Given the description of an element on the screen output the (x, y) to click on. 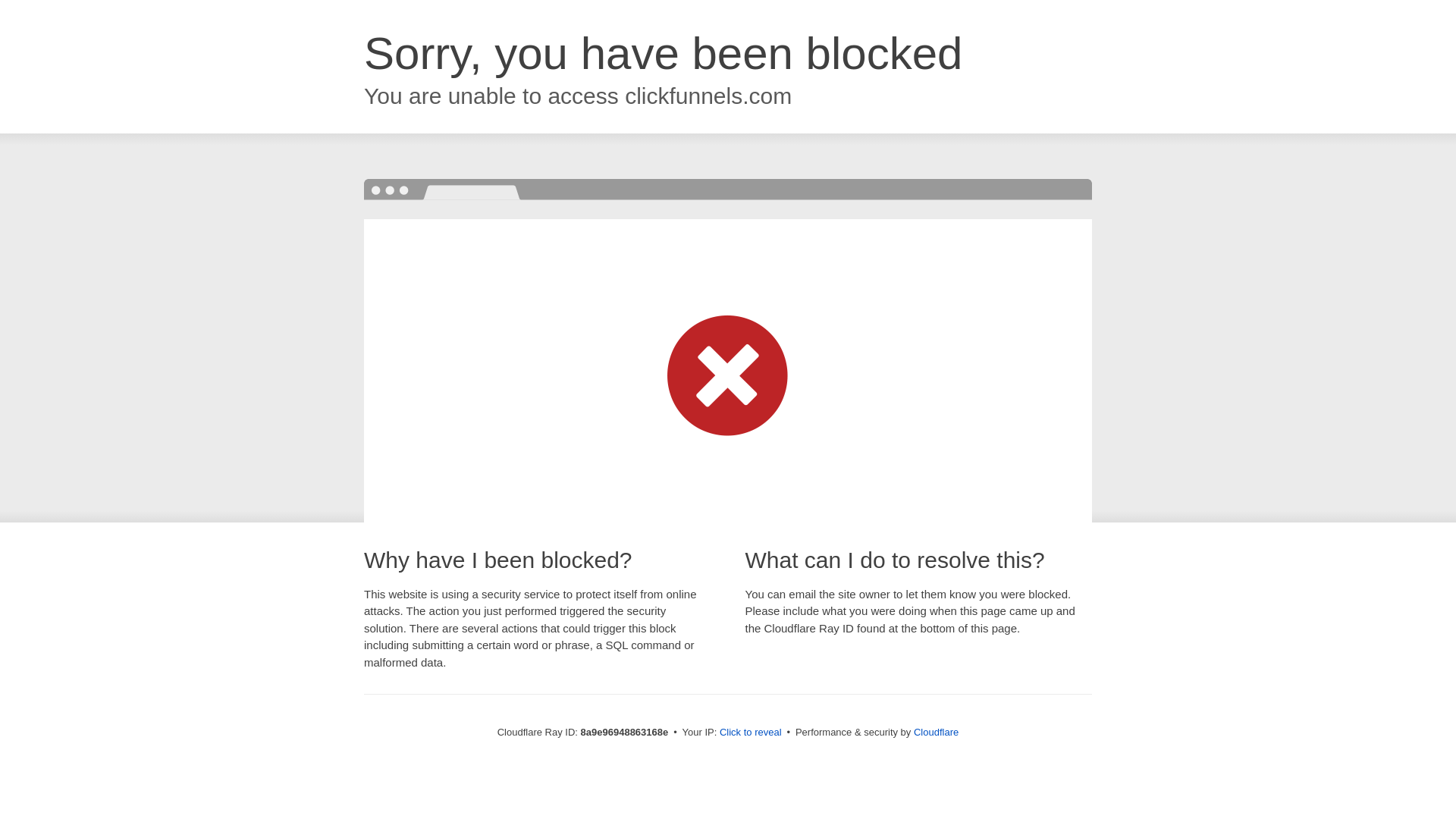
Click to reveal (750, 732)
Cloudflare (936, 731)
